Given the description of an element on the screen output the (x, y) to click on. 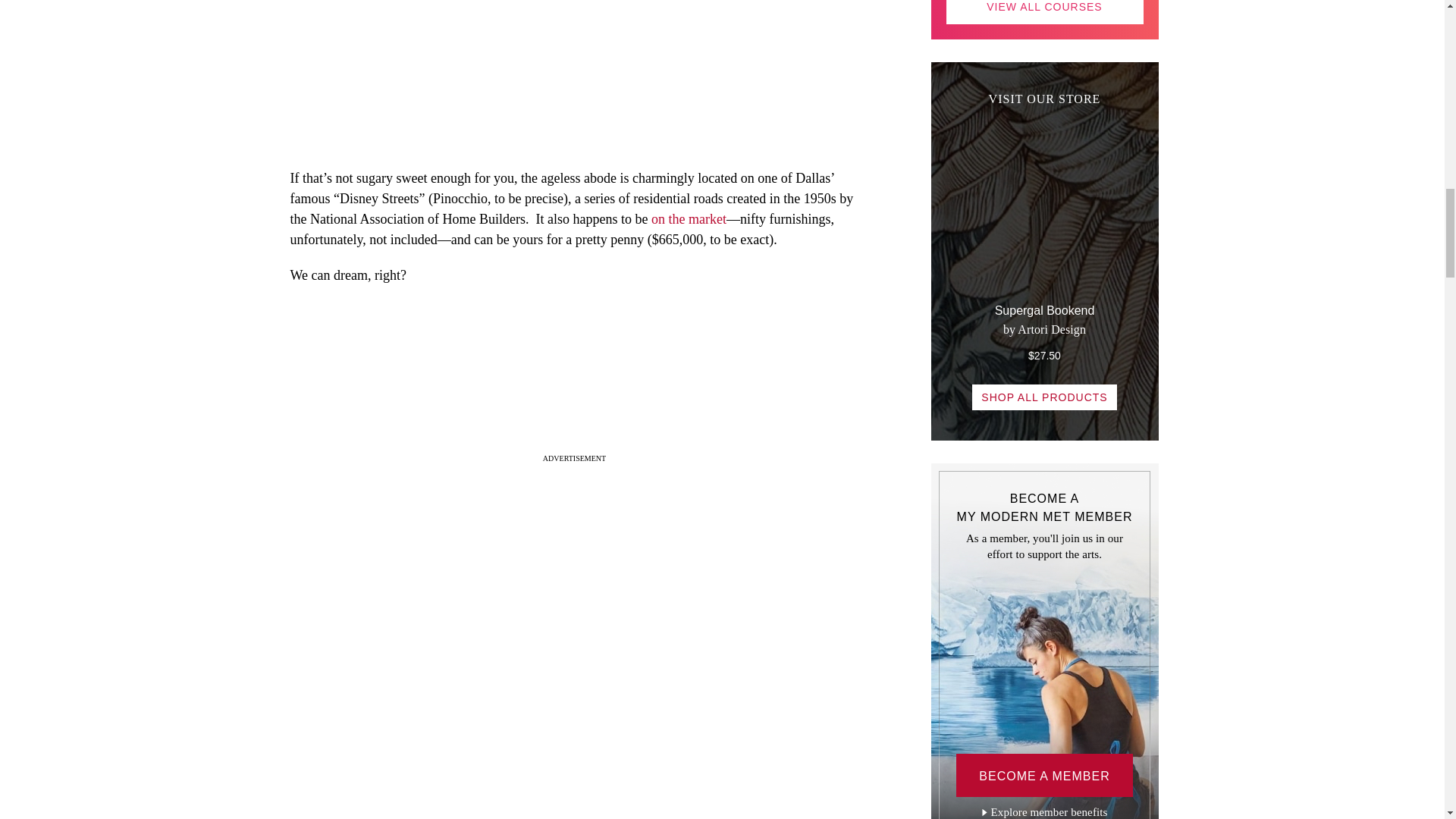
Visit Our Store (1044, 258)
